Given the description of an element on the screen output the (x, y) to click on. 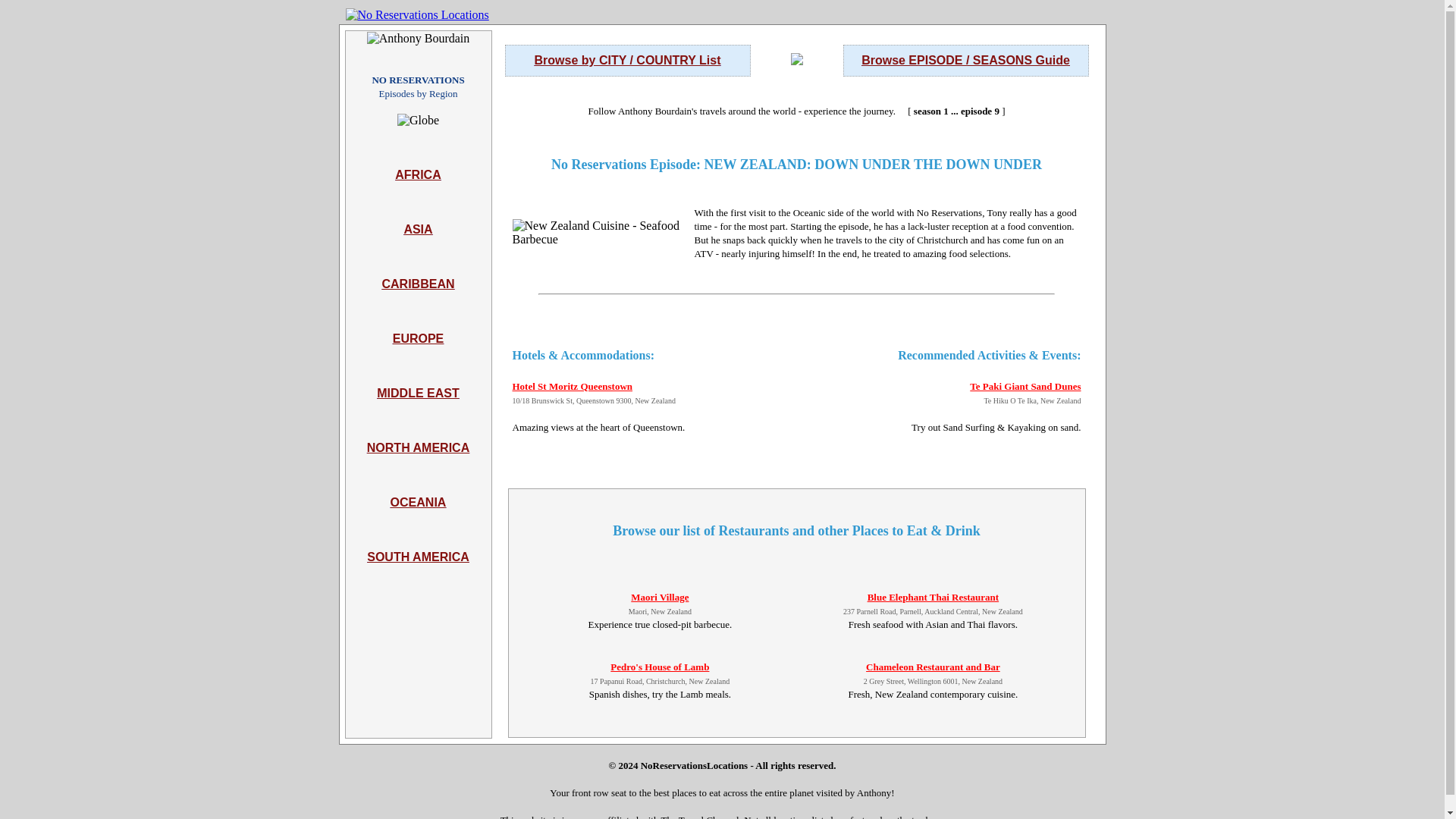
OCEANIA (418, 522)
SOUTH AMERICA (417, 577)
CARIBBEAN (417, 304)
NORTH AMERICA (417, 468)
MIDDLE EAST (417, 413)
EUROPE (418, 358)
